Given the description of an element on the screen output the (x, y) to click on. 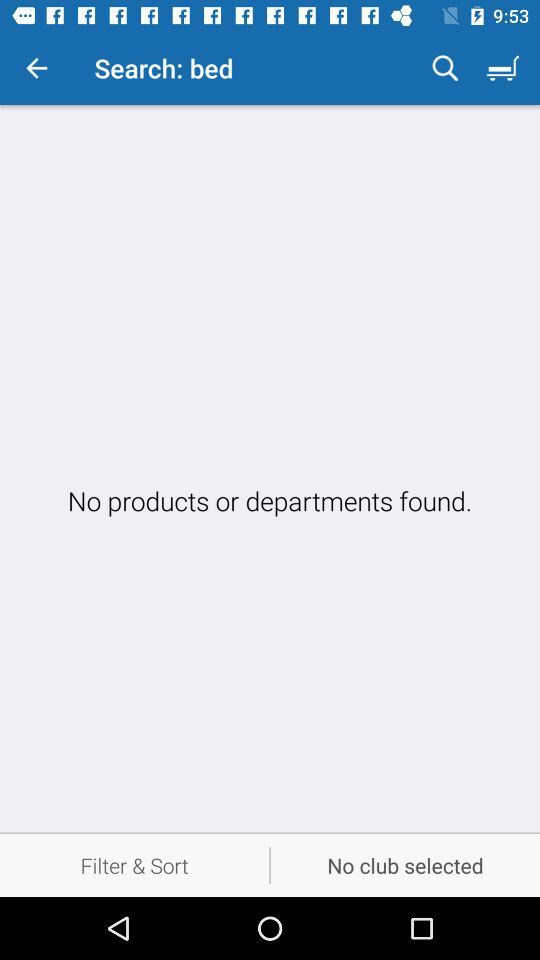
open the item to the left of the search: bed (36, 68)
